Given the description of an element on the screen output the (x, y) to click on. 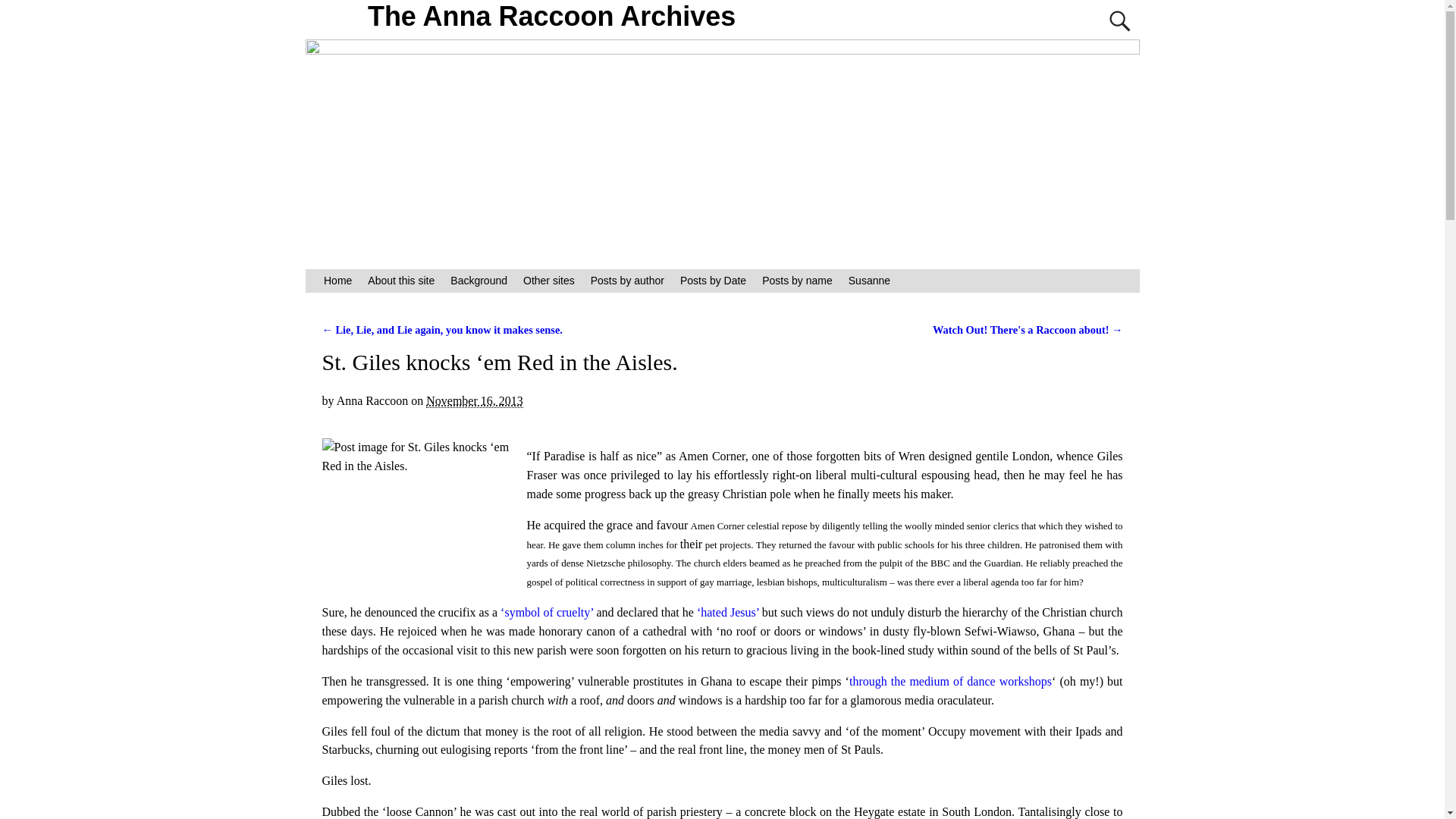
Other sites (549, 280)
Posts by name (797, 280)
2013-11-16 (474, 400)
through the medium of dance workshops (949, 680)
About this site (400, 280)
Posts by author (626, 280)
The Anna Raccoon Archives (551, 15)
Posts by Date (712, 280)
Background (478, 280)
The Anna Raccoon Archives (551, 15)
